Given the description of an element on the screen output the (x, y) to click on. 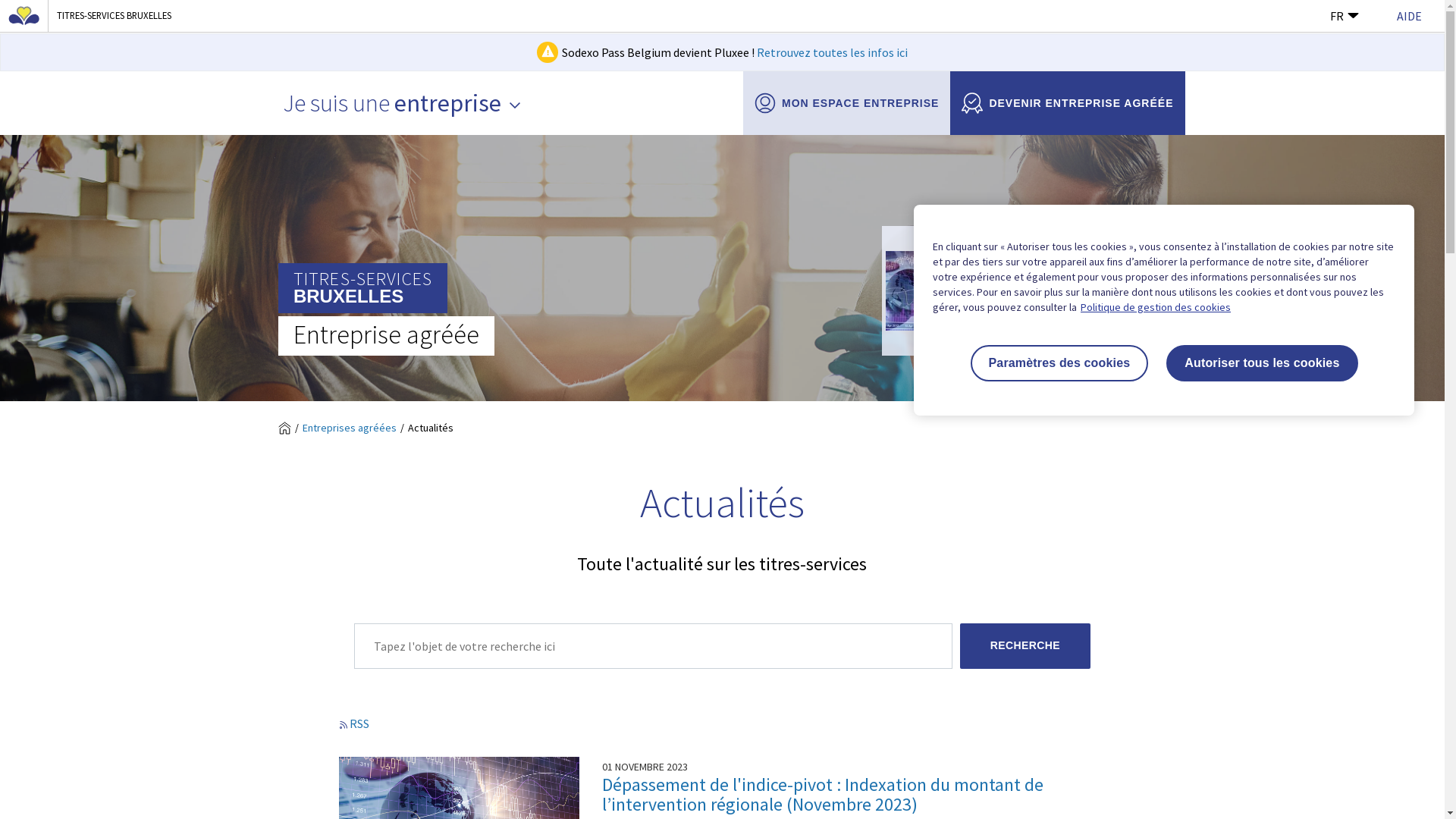
Je suis une entreprise Element type: text (401, 102)
TITRES-SERVICES BRUXELLES Element type: text (109, 15)
Politique de gestion des cookies Element type: text (1155, 306)
RECHERCHE Element type: text (1025, 645)
Voir plus Element type: text (991, 343)
FR Element type: text (1344, 15)
Retrouvez toutes les infos ici Element type: text (831, 51)
Autoriser tous les cookies Element type: text (1261, 363)
AIDE Element type: text (1408, 15)
TITRES-SERVICES
BRUXELLES Element type: text (362, 288)
MON ESPACE ENTREPRISE Element type: text (846, 102)
RSS Element type: text (353, 723)
